Given the description of an element on the screen output the (x, y) to click on. 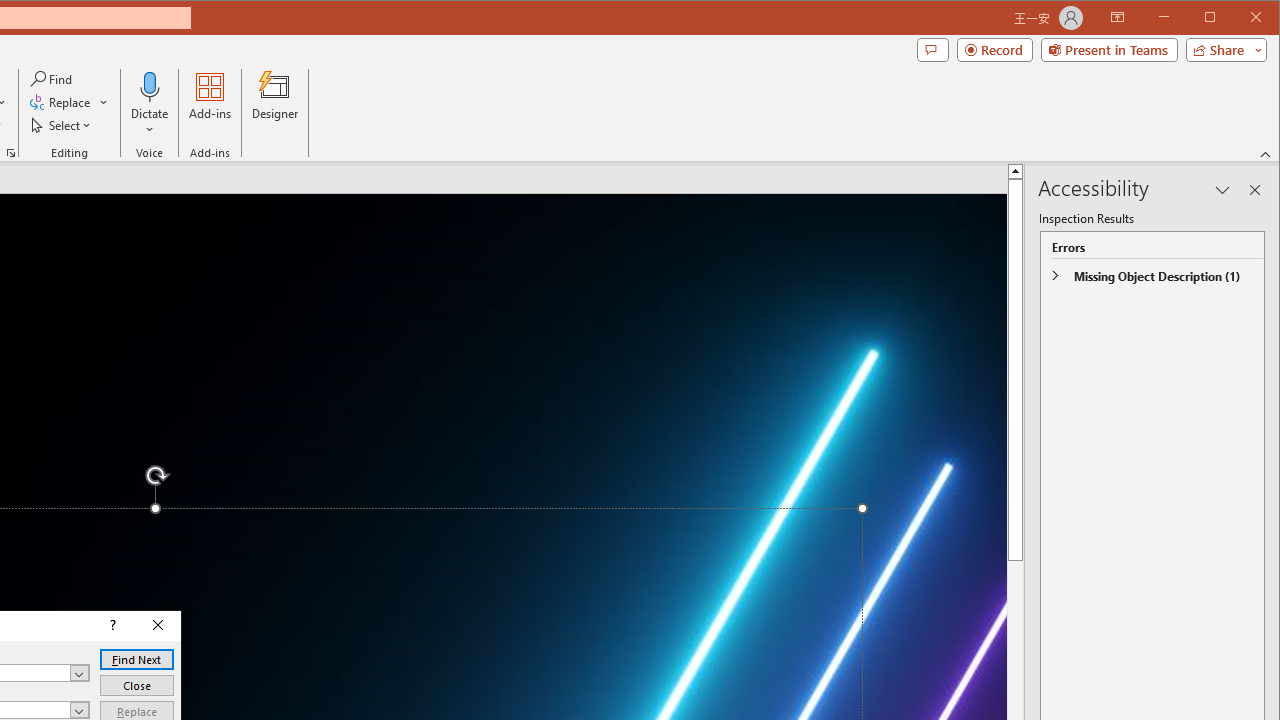
Maximize (1238, 18)
Context help (111, 625)
Find Next (136, 659)
